Given the description of an element on the screen output the (x, y) to click on. 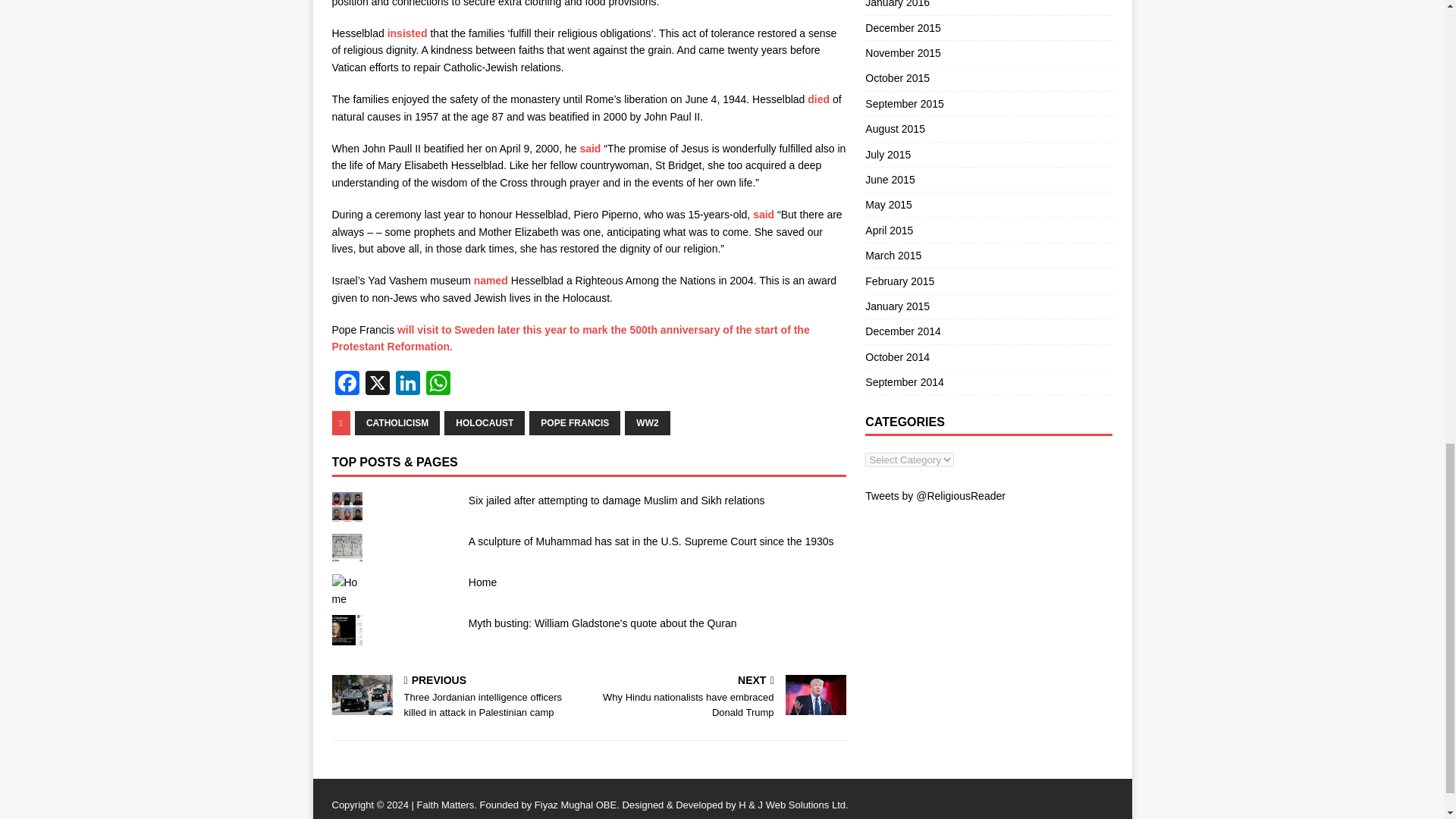
LinkedIn (408, 384)
X (377, 384)
Facebook (346, 384)
Home (482, 582)
WhatsApp (437, 384)
insisted (406, 33)
died (818, 99)
said (591, 148)
